Given the description of an element on the screen output the (x, y) to click on. 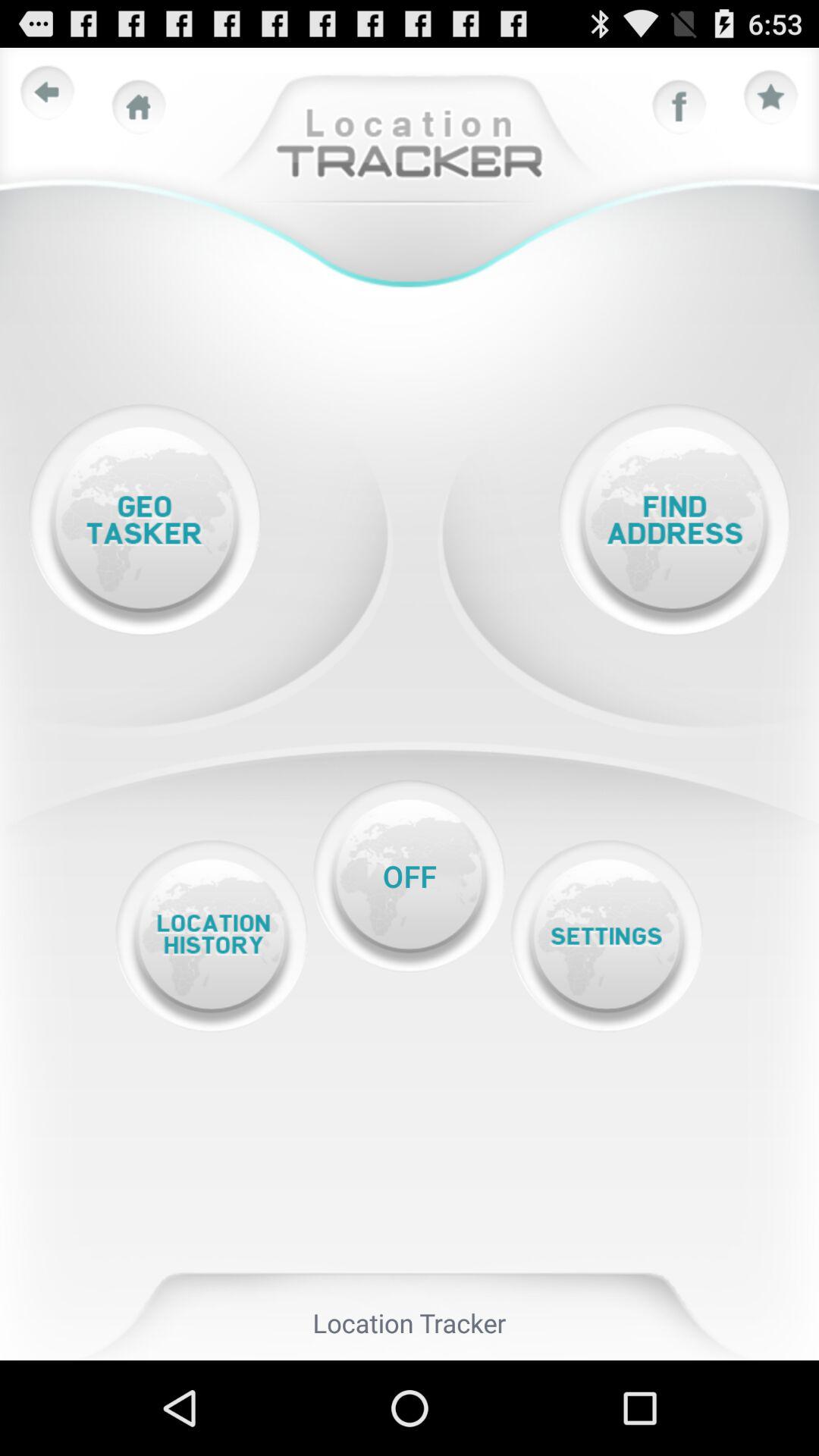
favorite (771, 97)
